Given the description of an element on the screen output the (x, y) to click on. 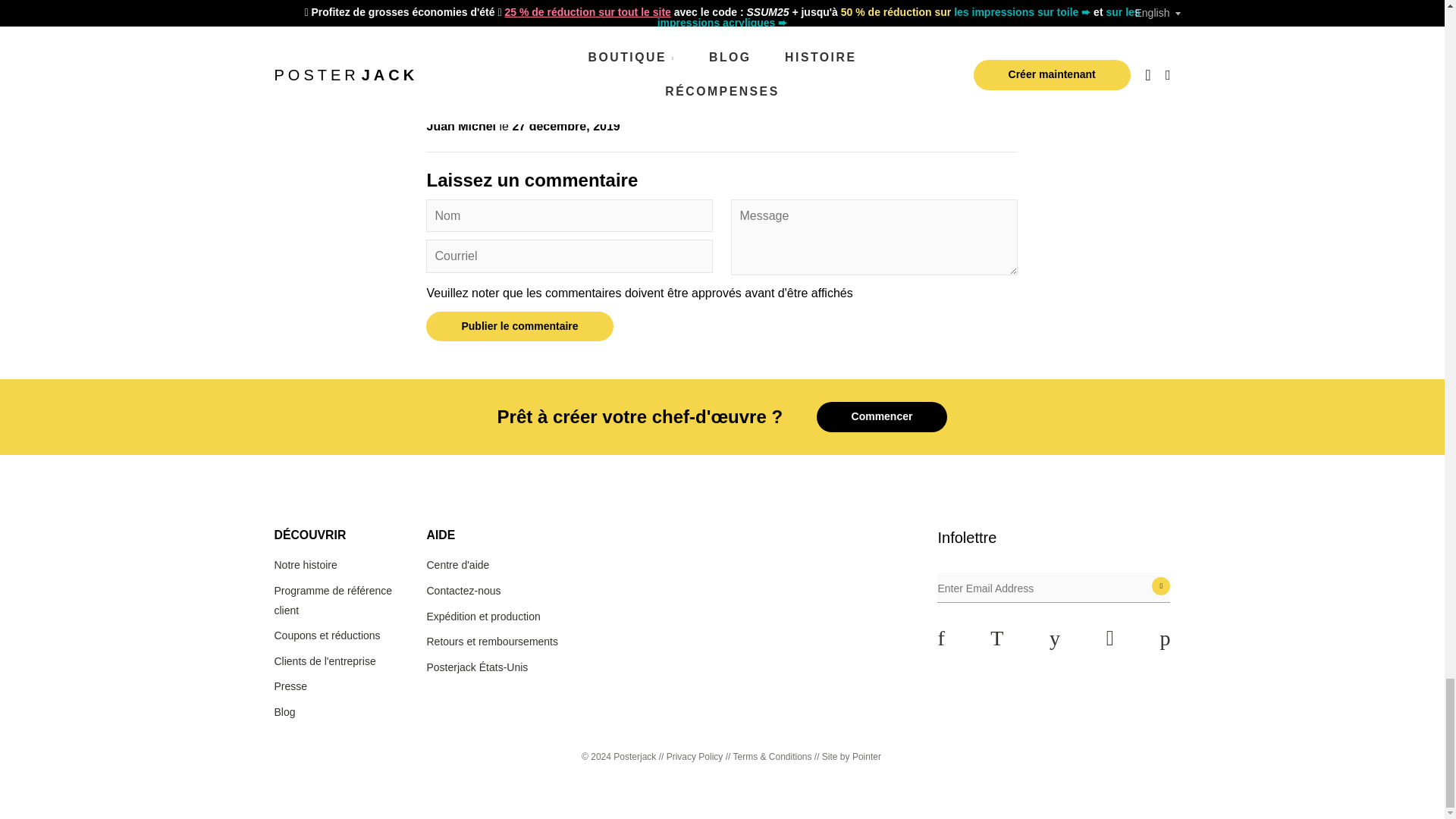
Publier le commentaire (519, 327)
